Given the description of an element on the screen output the (x, y) to click on. 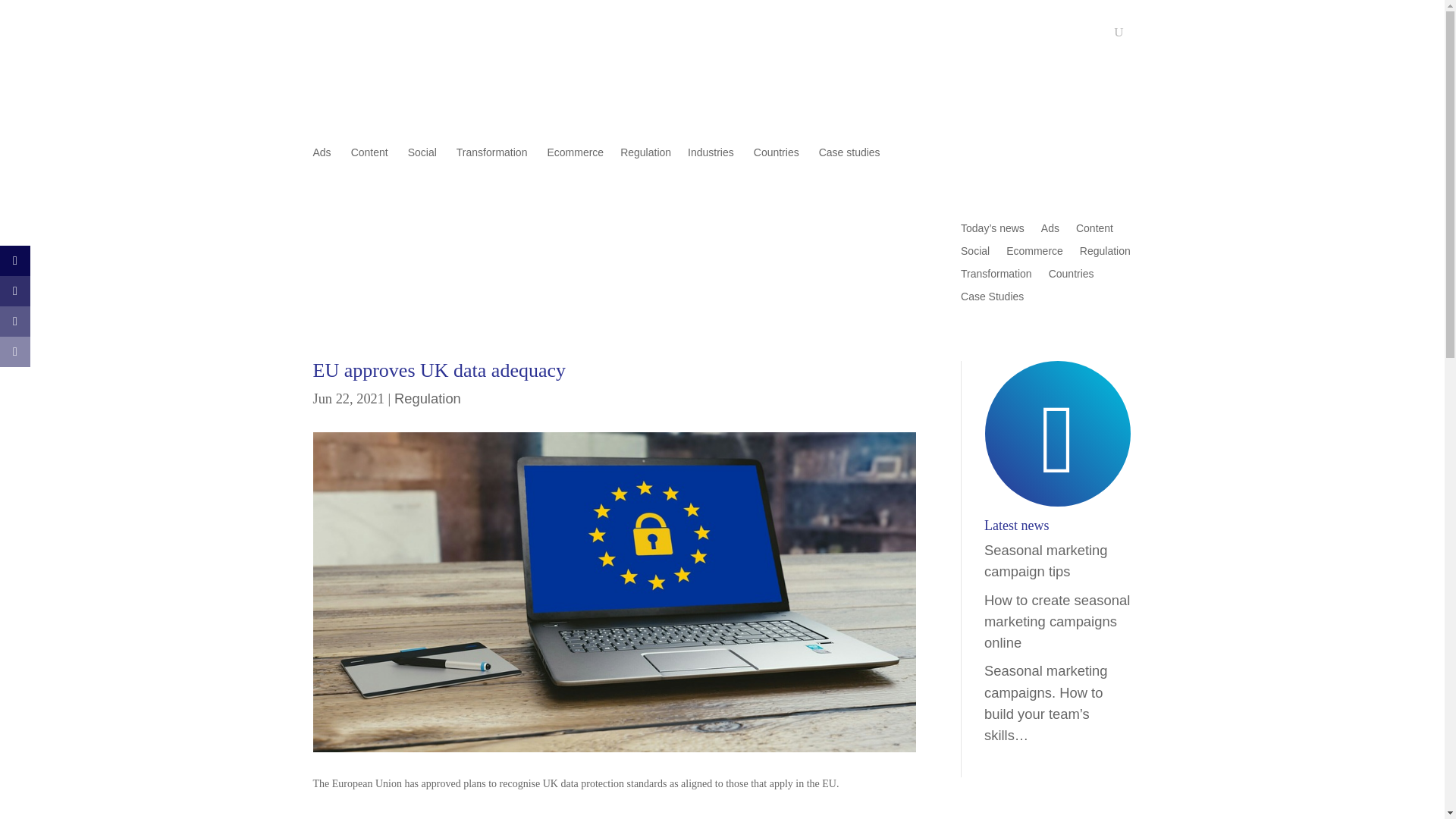
Training (896, 40)
About (779, 40)
How we help (716, 40)
Solutions (835, 40)
